Given the description of an element on the screen output the (x, y) to click on. 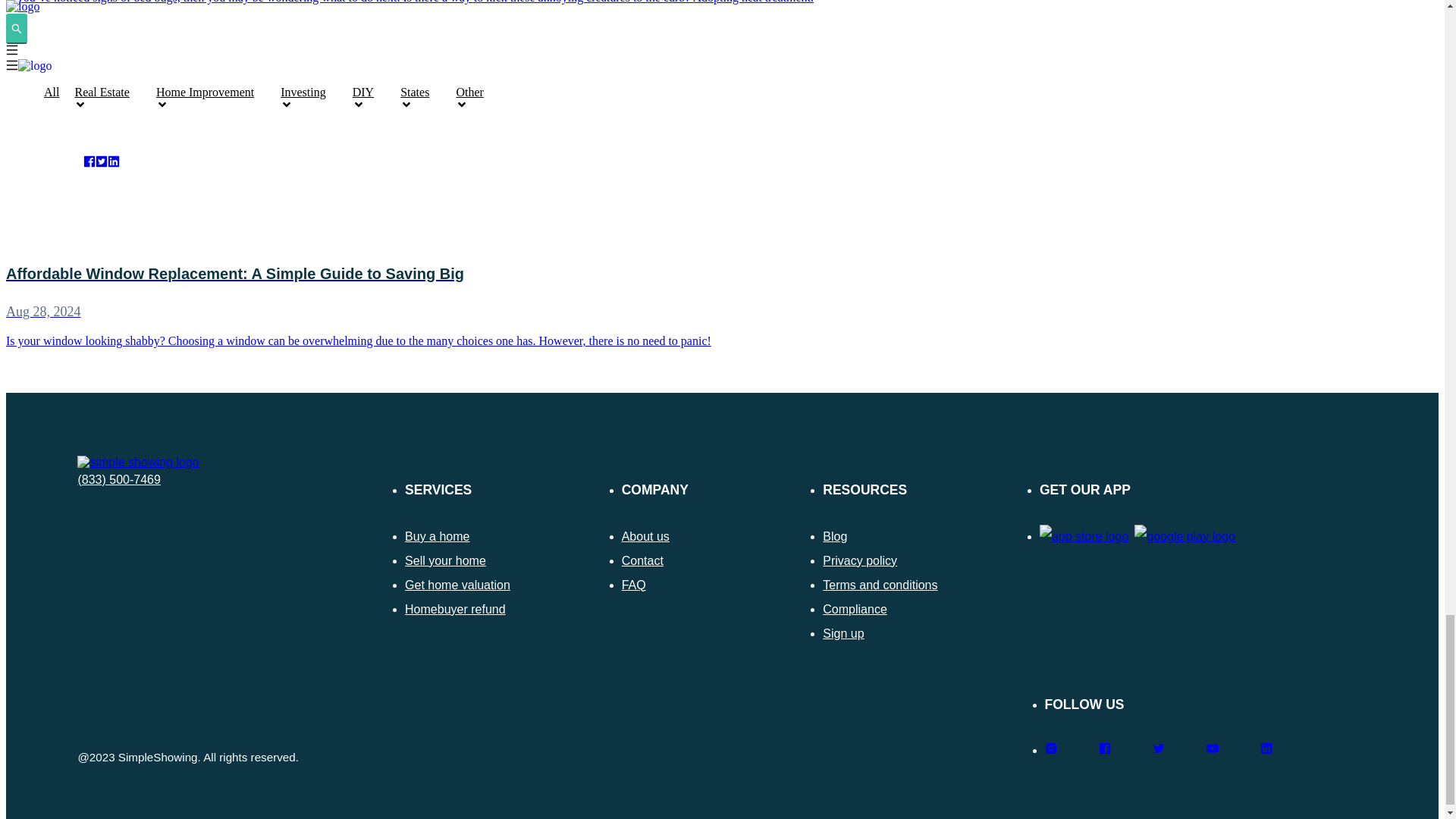
Contact (642, 560)
Homebuyer refund (454, 608)
Privacy policy (859, 560)
Compliance (854, 608)
Blog (834, 535)
Sign up (842, 633)
Sell your home (445, 560)
FAQ (633, 584)
About us (645, 535)
Terms and conditions (879, 584)
